Given the description of an element on the screen output the (x, y) to click on. 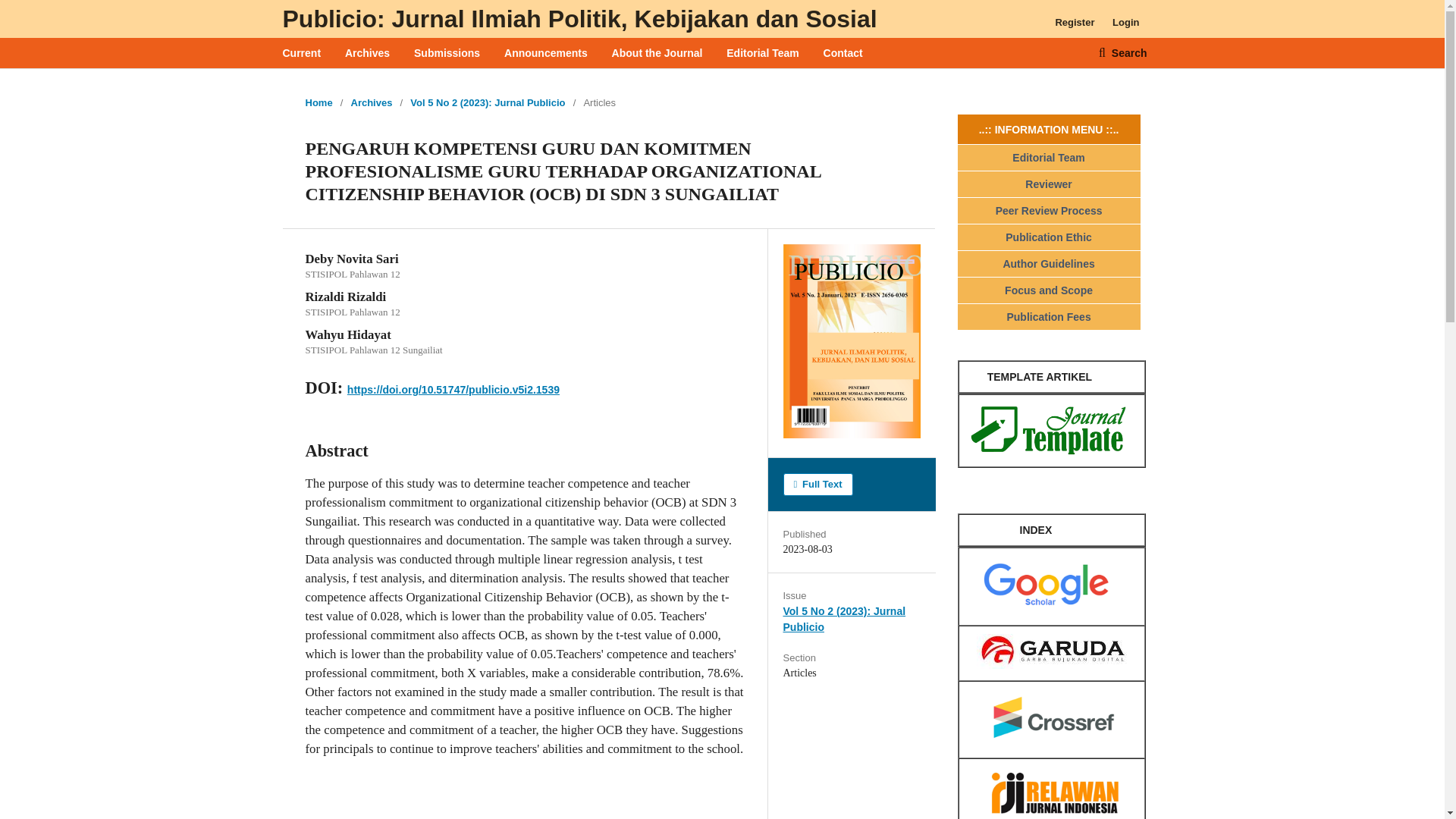
Reviewer (1048, 184)
Home (317, 102)
Contact (843, 52)
Publication Fees (1048, 316)
Announcements (545, 52)
Archives (367, 52)
Publicio: Jurnal Ilmiah Politik, Kebijakan dan Sosial (579, 18)
Focus and Scope (1048, 290)
Search (1122, 52)
Submissions (446, 52)
Full Text (817, 484)
Register (1074, 22)
Login (1126, 22)
Editorial Team (1047, 157)
Publication Ethic (1049, 236)
